Given the description of an element on the screen output the (x, y) to click on. 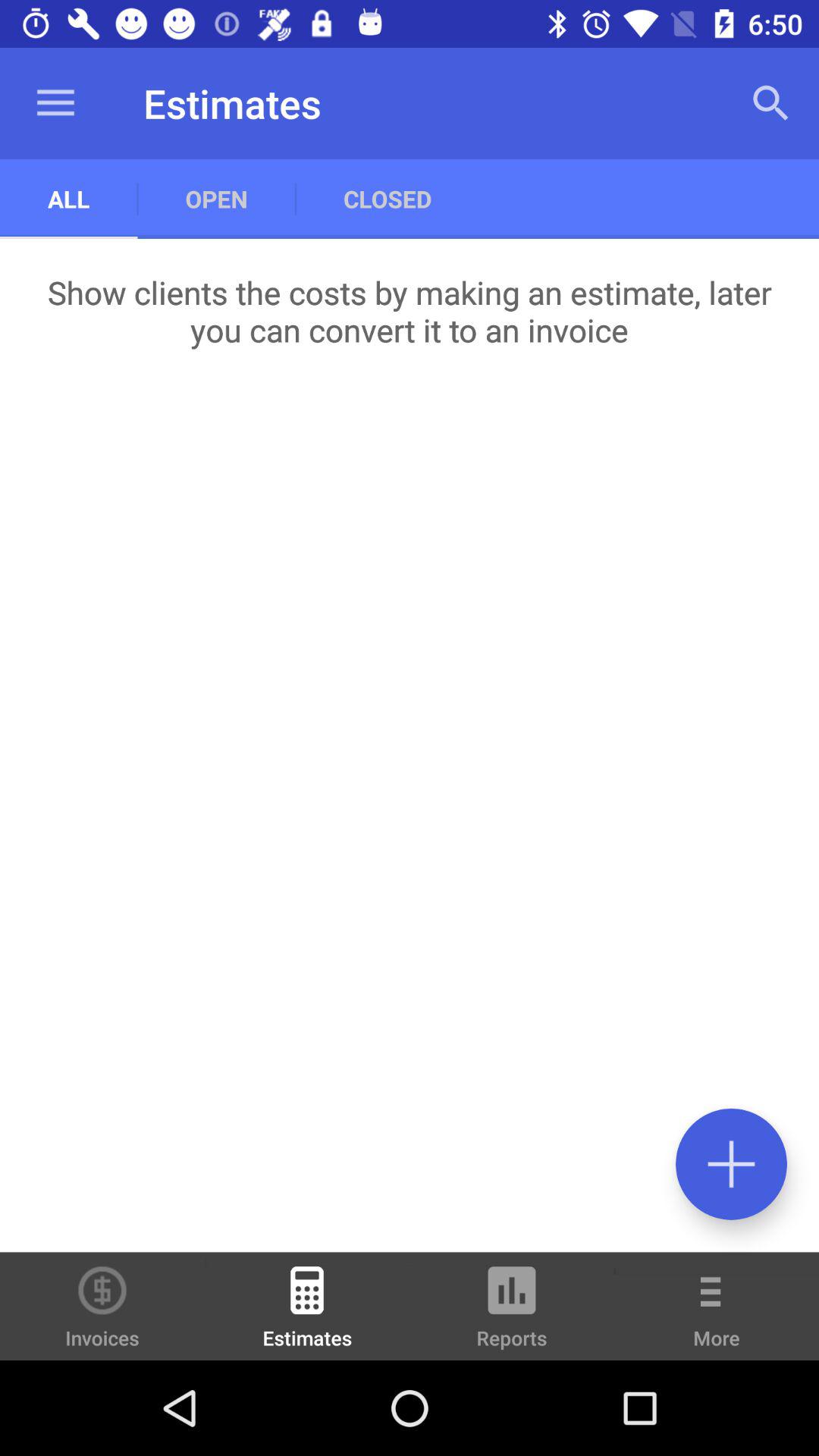
turn off icon next to the closed item (771, 103)
